Given the description of an element on the screen output the (x, y) to click on. 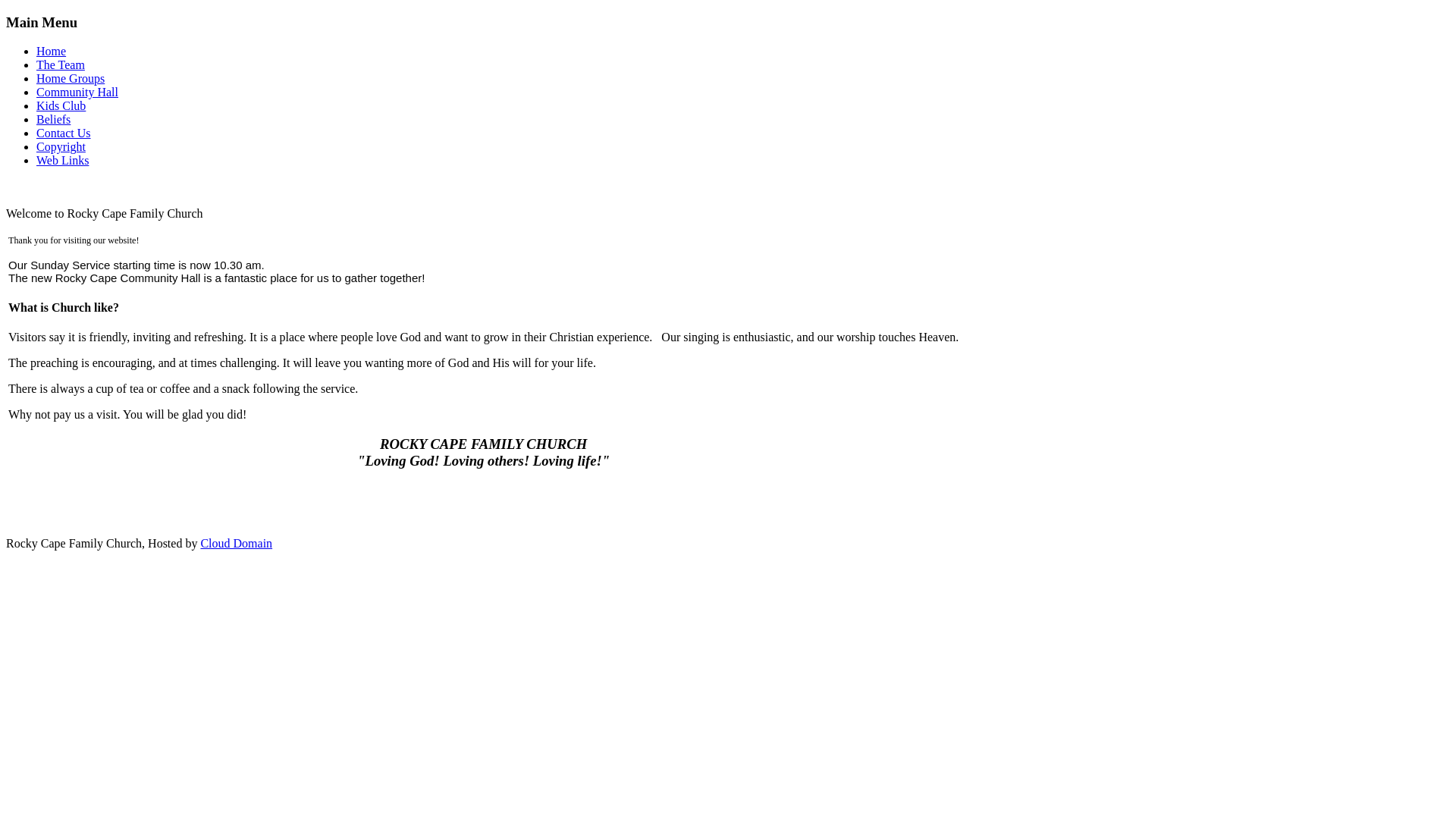
Home Groups Element type: text (70, 78)
Kids Club Element type: text (60, 105)
Cloud Domain Element type: text (236, 542)
Community Hall Element type: text (77, 91)
Copyright Element type: text (60, 146)
The Team Element type: text (60, 64)
Beliefs Element type: text (53, 118)
Home Element type: text (50, 50)
Web Links Element type: text (62, 159)
Contact Us Element type: text (63, 132)
